Given the description of an element on the screen output the (x, y) to click on. 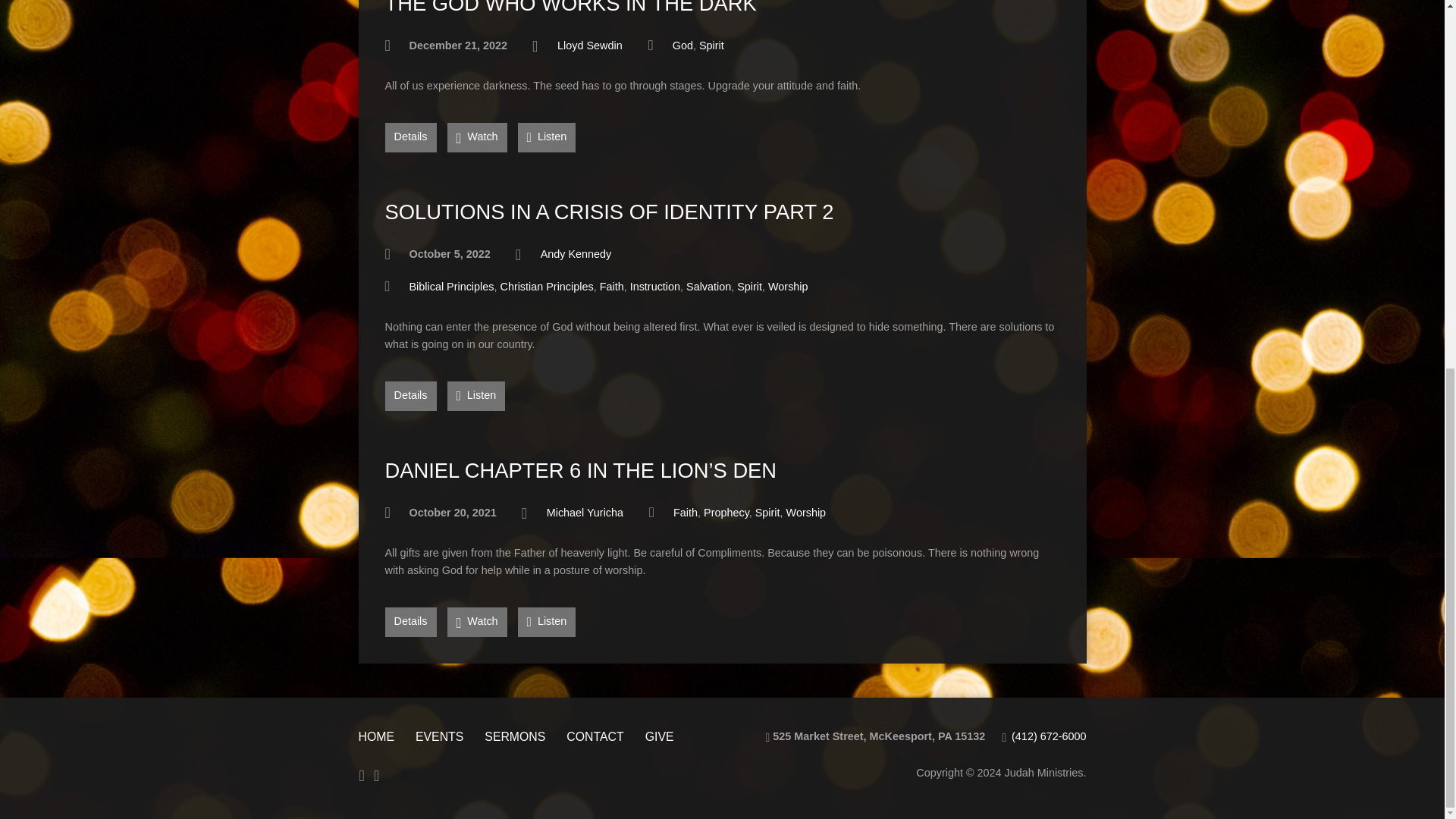
The God who Works in the Dark (571, 7)
Solutions in a Crisis of Identity Part 2 (609, 211)
